Given the description of an element on the screen output the (x, y) to click on. 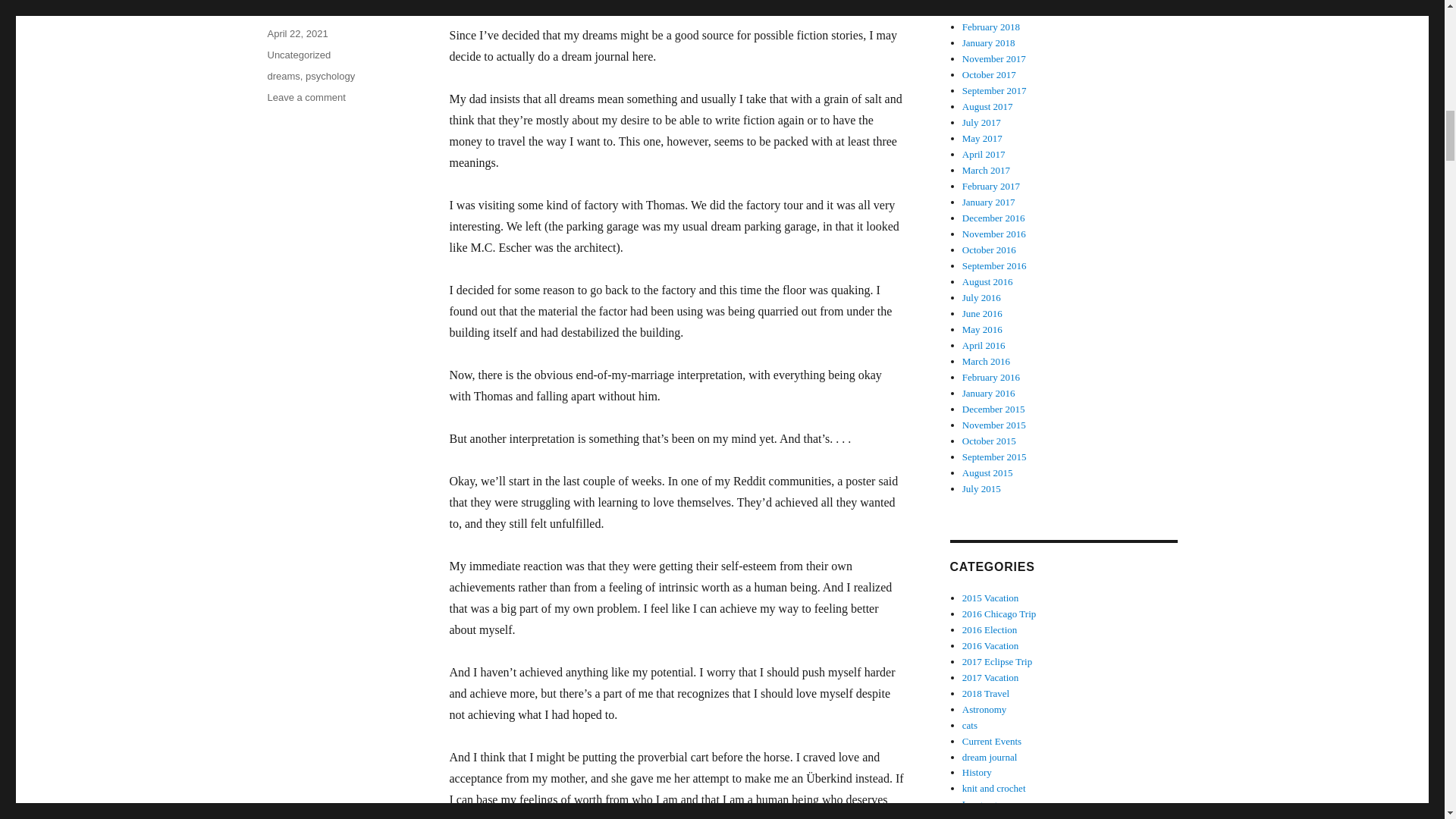
dreams (282, 75)
Uncategorized (298, 54)
psychology (305, 97)
April 22, 2021 (330, 75)
